Given the description of an element on the screen output the (x, y) to click on. 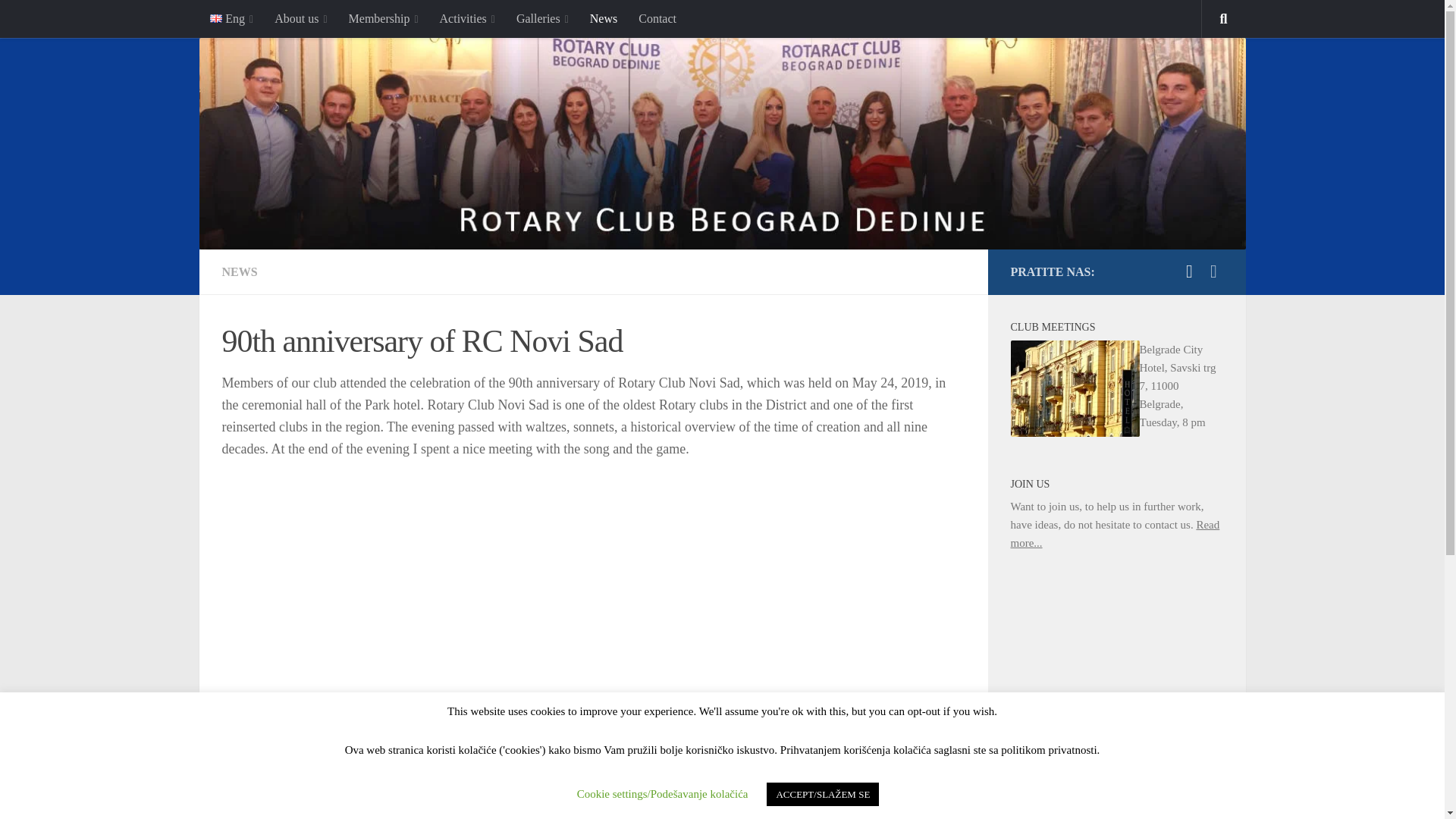
Follow us on Facebook (1213, 271)
Skip to content (59, 20)
Follow us on Instagram (1188, 271)
